Given the description of an element on the screen output the (x, y) to click on. 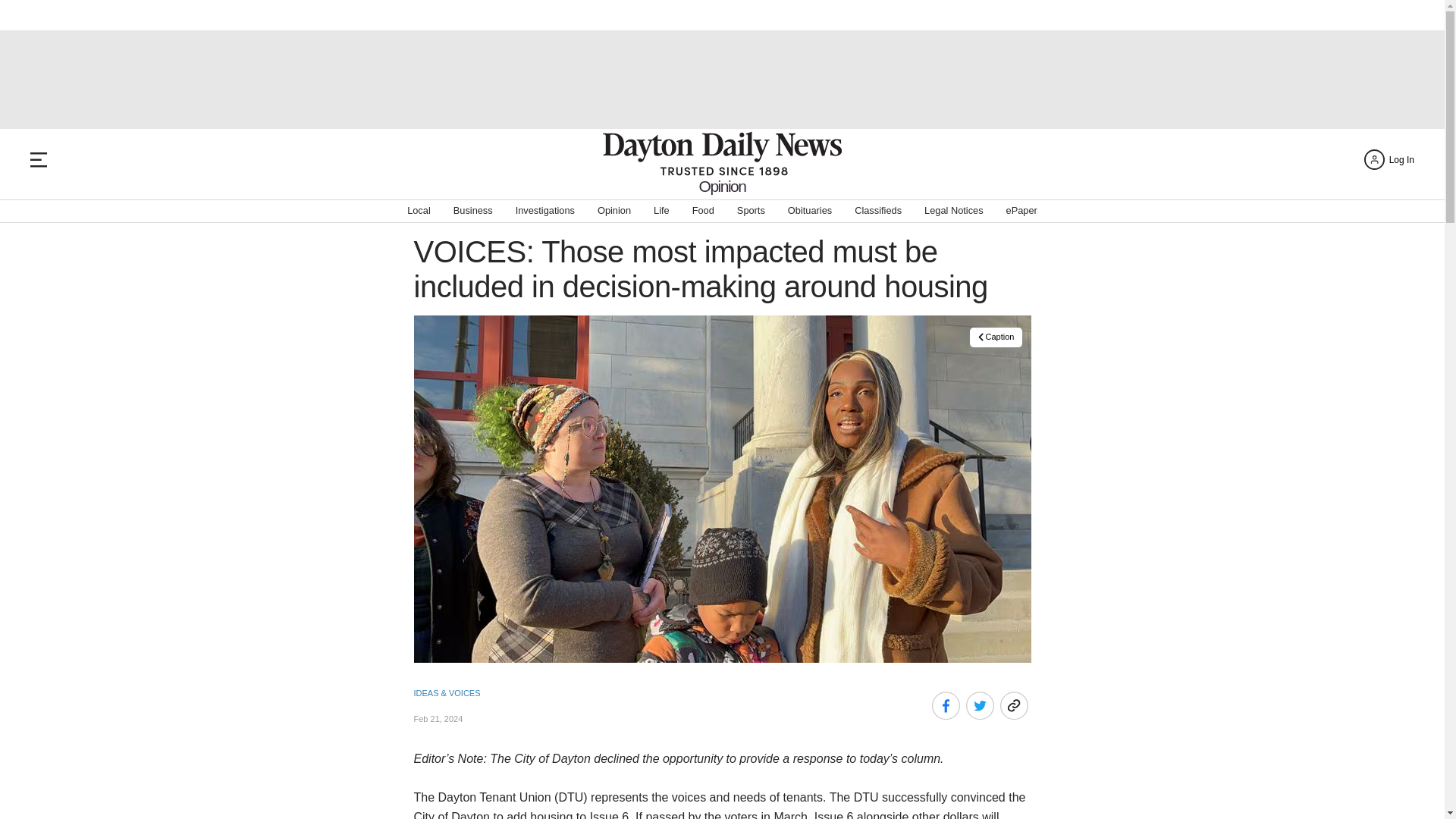
Local (418, 210)
Opinion (721, 186)
Obituaries (809, 210)
ePaper (1021, 210)
Classifieds (877, 210)
Legal Notices (954, 210)
Sports (750, 210)
Investigations (545, 210)
Opinion (613, 210)
